Given the description of an element on the screen output the (x, y) to click on. 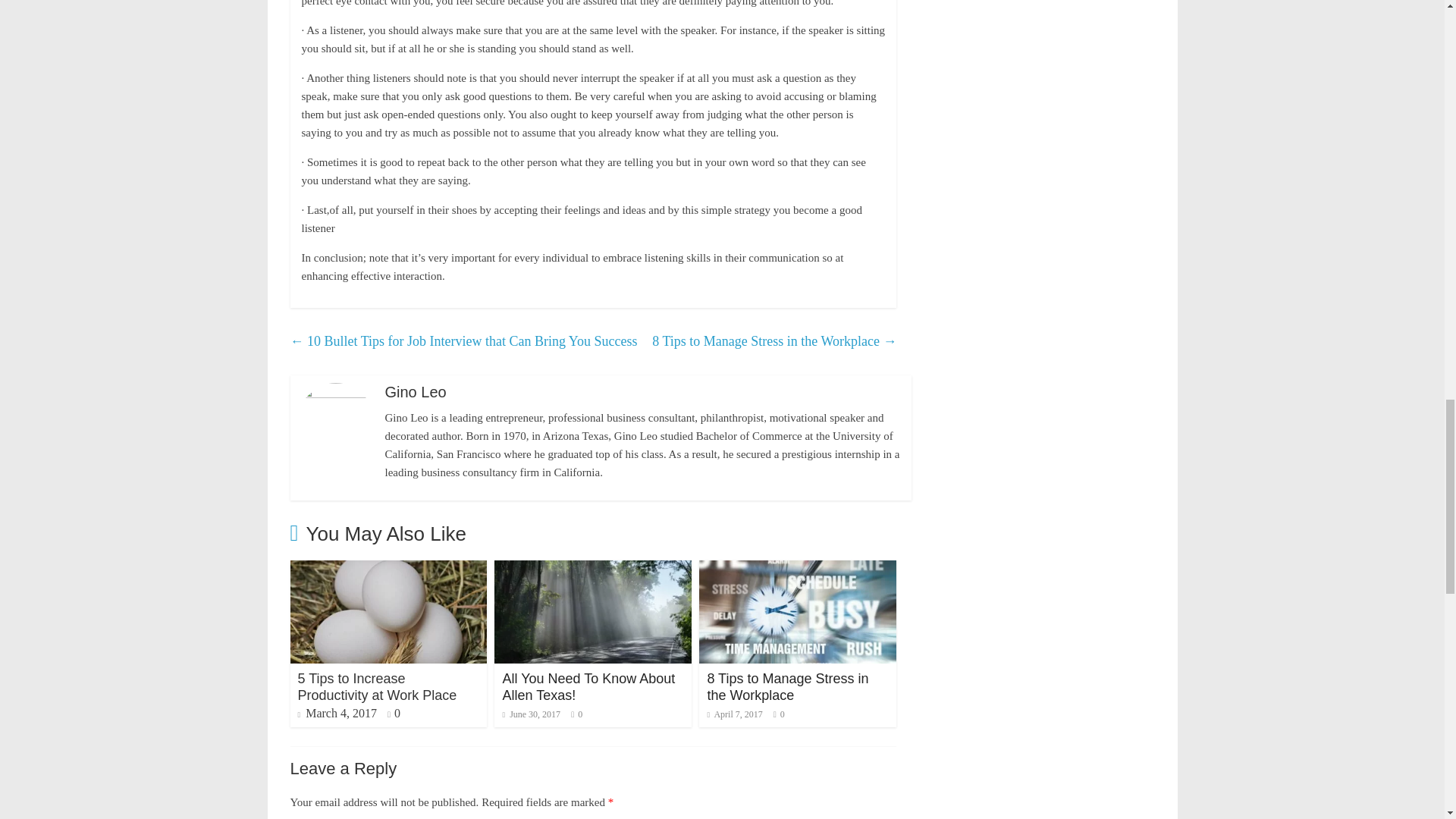
All You Need To Know About Allen Texas! (588, 686)
June 30, 2017 (531, 714)
All You Need To Know About Allen Texas! (593, 569)
8 Tips to Manage Stress in the Workplace (797, 569)
All You Need To Know About Allen Texas! (588, 686)
8:19 pm (531, 714)
8 Tips to Manage Stress in the Workplace (786, 686)
April 7, 2017 (733, 714)
